Given the description of an element on the screen output the (x, y) to click on. 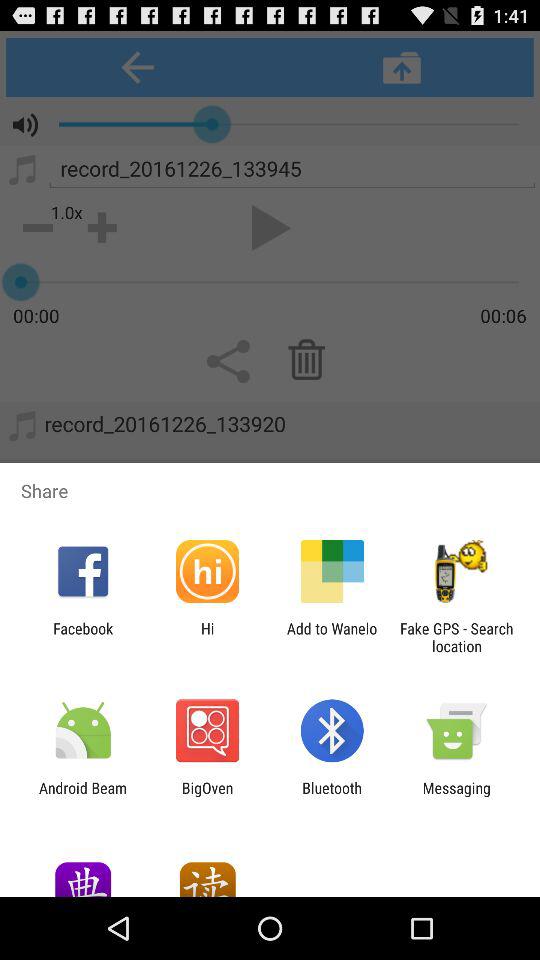
open app to the left of hi item (83, 637)
